Given the description of an element on the screen output the (x, y) to click on. 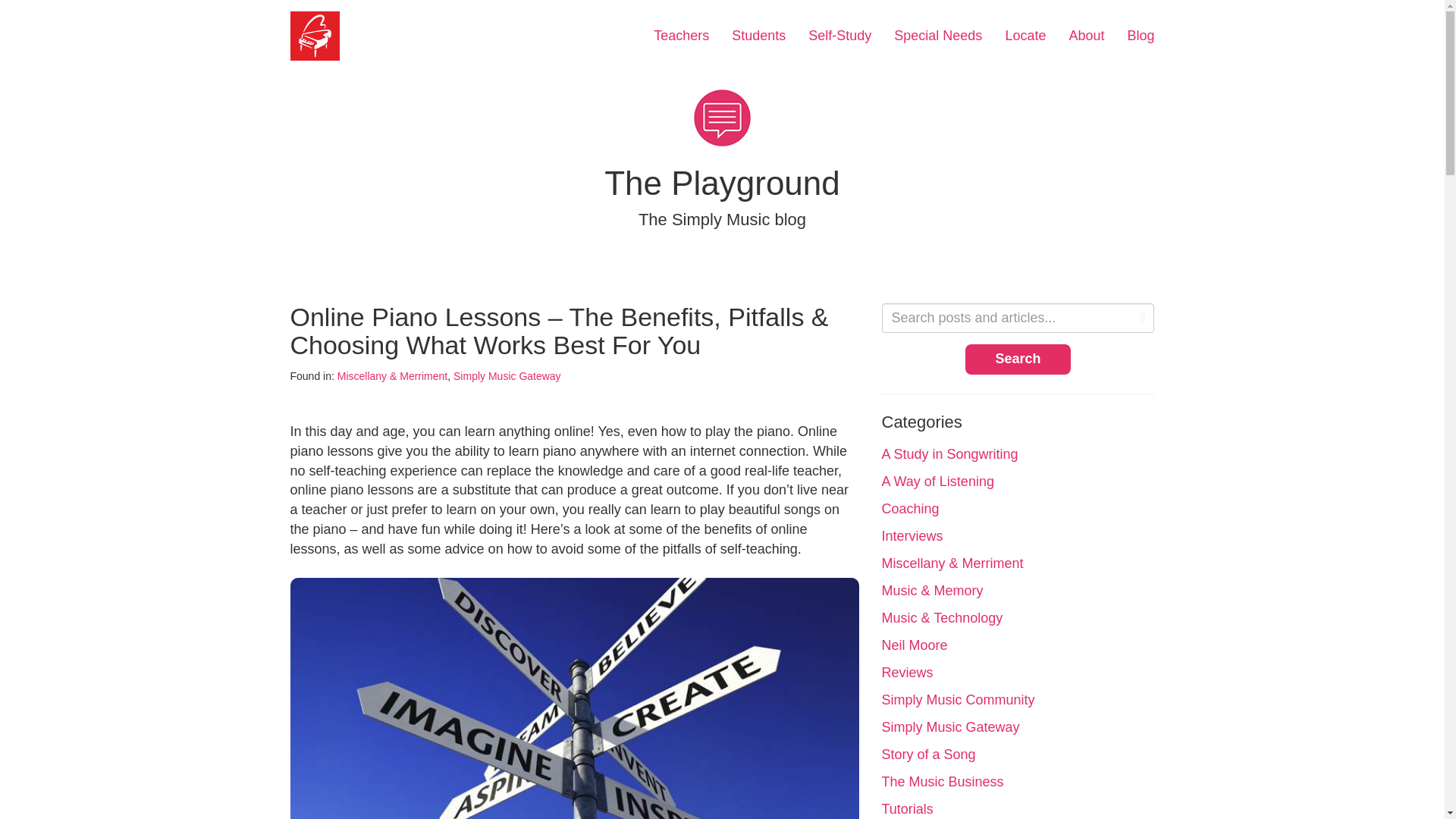
Self-Study (839, 36)
Simply Music Gateway (506, 376)
Teachers (681, 36)
A Study in Songwriting (948, 453)
Coaching (909, 508)
Self-Study (839, 36)
Home (314, 36)
Students (758, 36)
Search (1017, 358)
Teachers (681, 36)
Search (1017, 358)
Special Needs (937, 36)
Special Needs (937, 36)
Interviews (911, 535)
Students (758, 36)
